Given the description of an element on the screen output the (x, y) to click on. 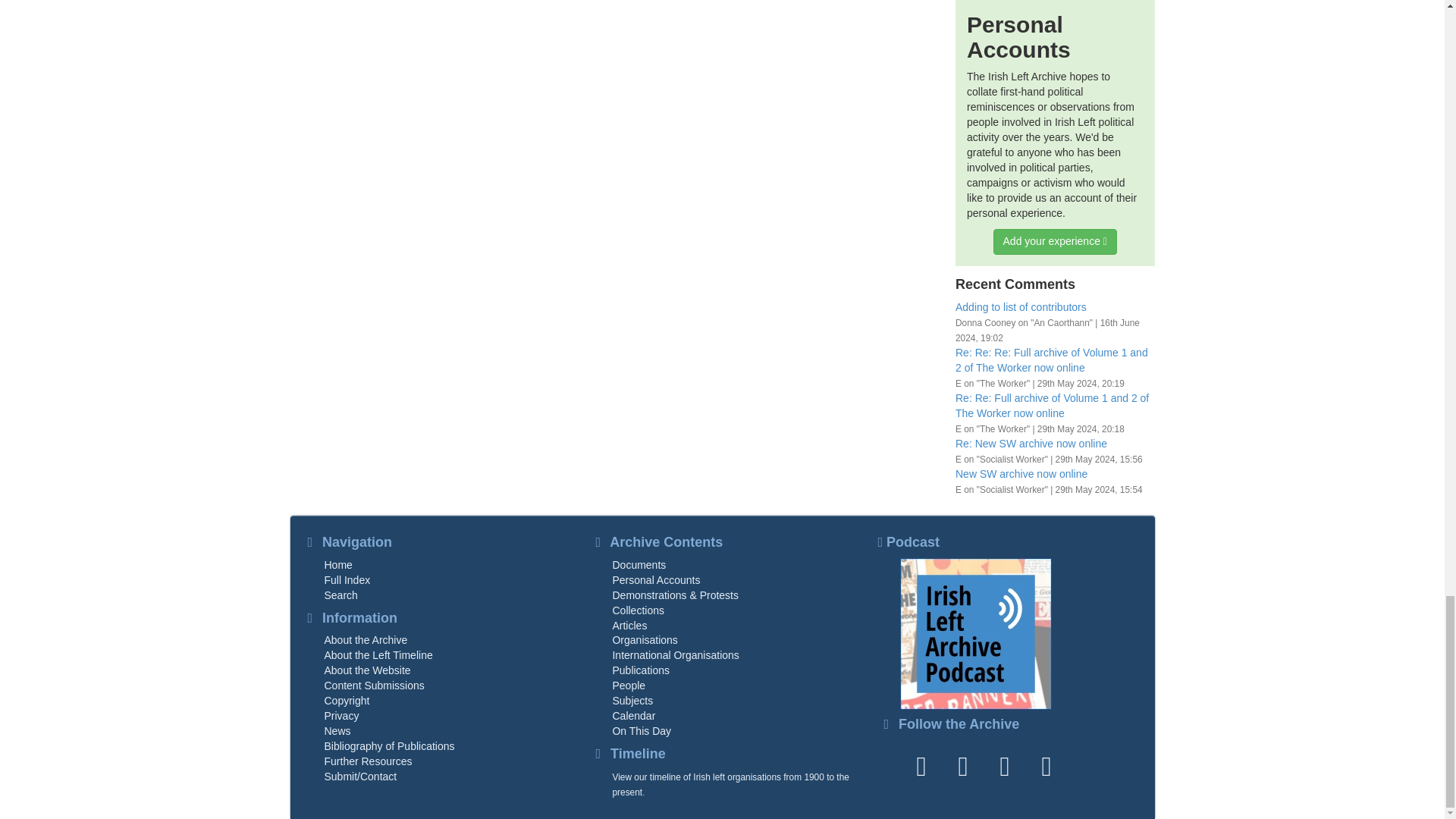
Browse the full index (347, 580)
Return to the home page (338, 564)
About the CLR Irish Left Archive (365, 639)
Search the archive (341, 594)
About the Timeline of the Irish Left (378, 654)
